Given the description of an element on the screen output the (x, y) to click on. 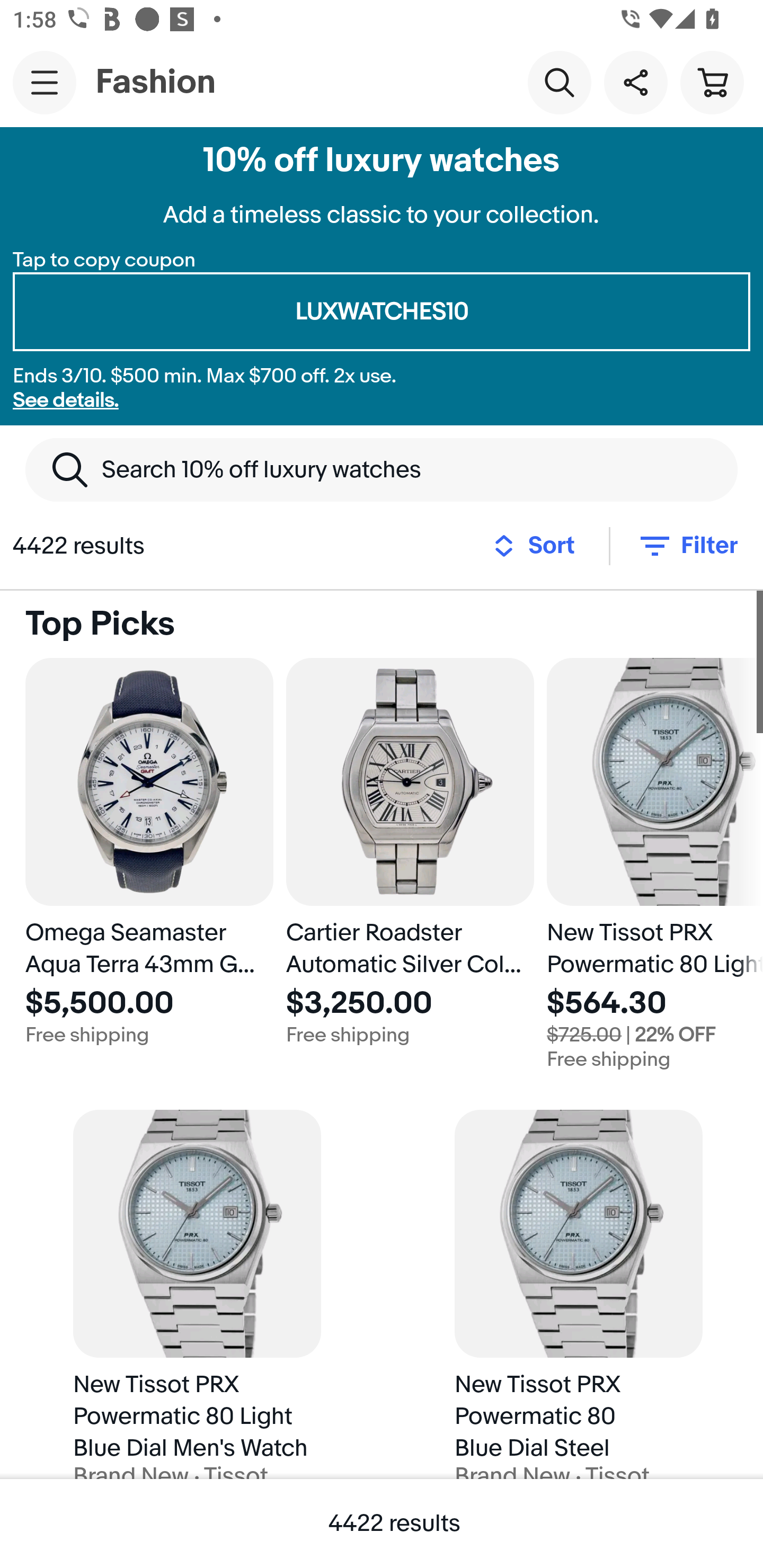
Main navigation, open (44, 82)
Search (559, 81)
Share this page (635, 81)
Cart button shopping cart (711, 81)
LUXWATCHES10 (381, 311)
See details. (65, 400)
Search 10% off luxury watches (381, 469)
Sort (538, 546)
Filter (686, 546)
